Given the description of an element on the screen output the (x, y) to click on. 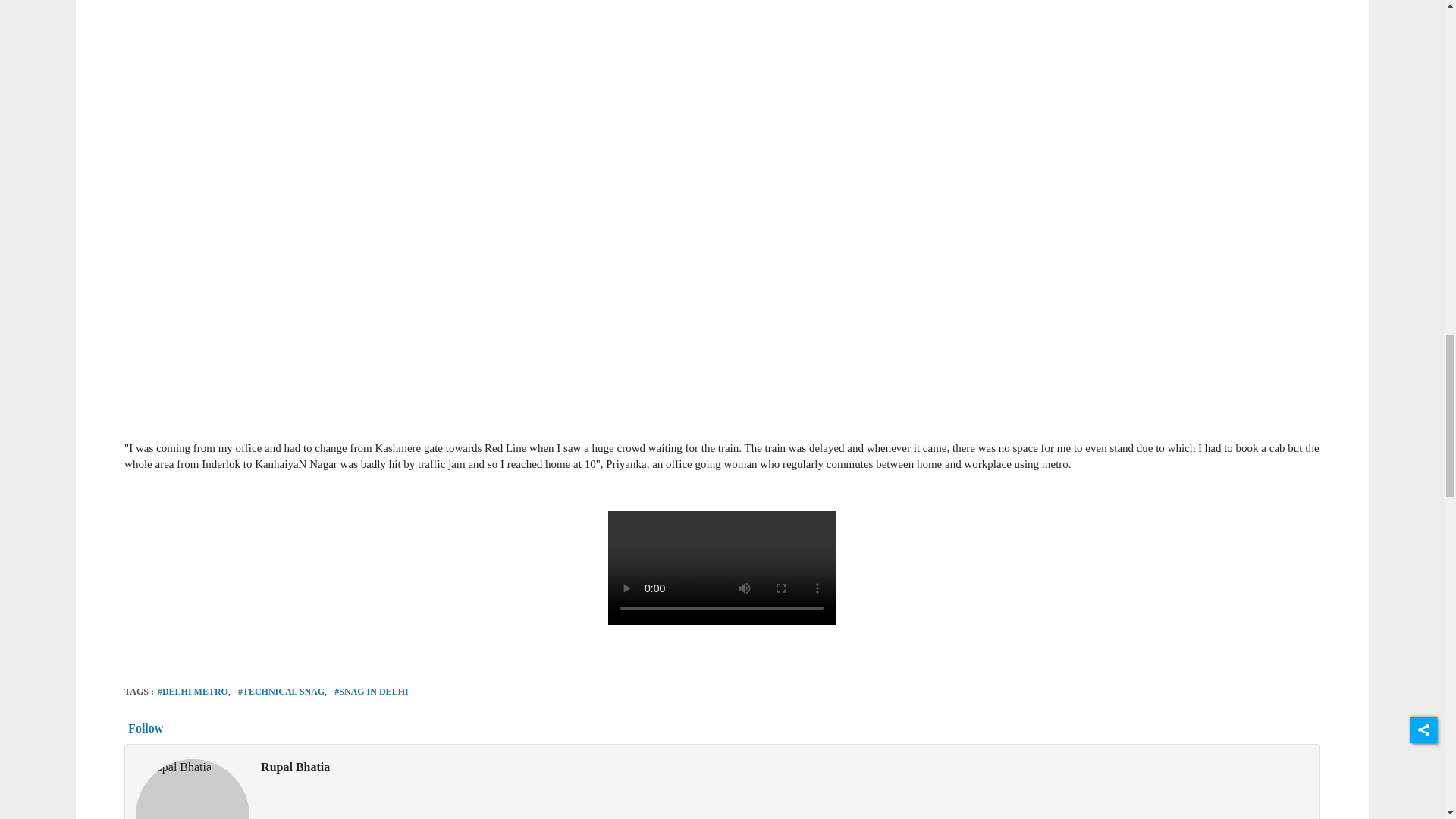
Rupal Bhatia (173, 767)
